Given the description of an element on the screen output the (x, y) to click on. 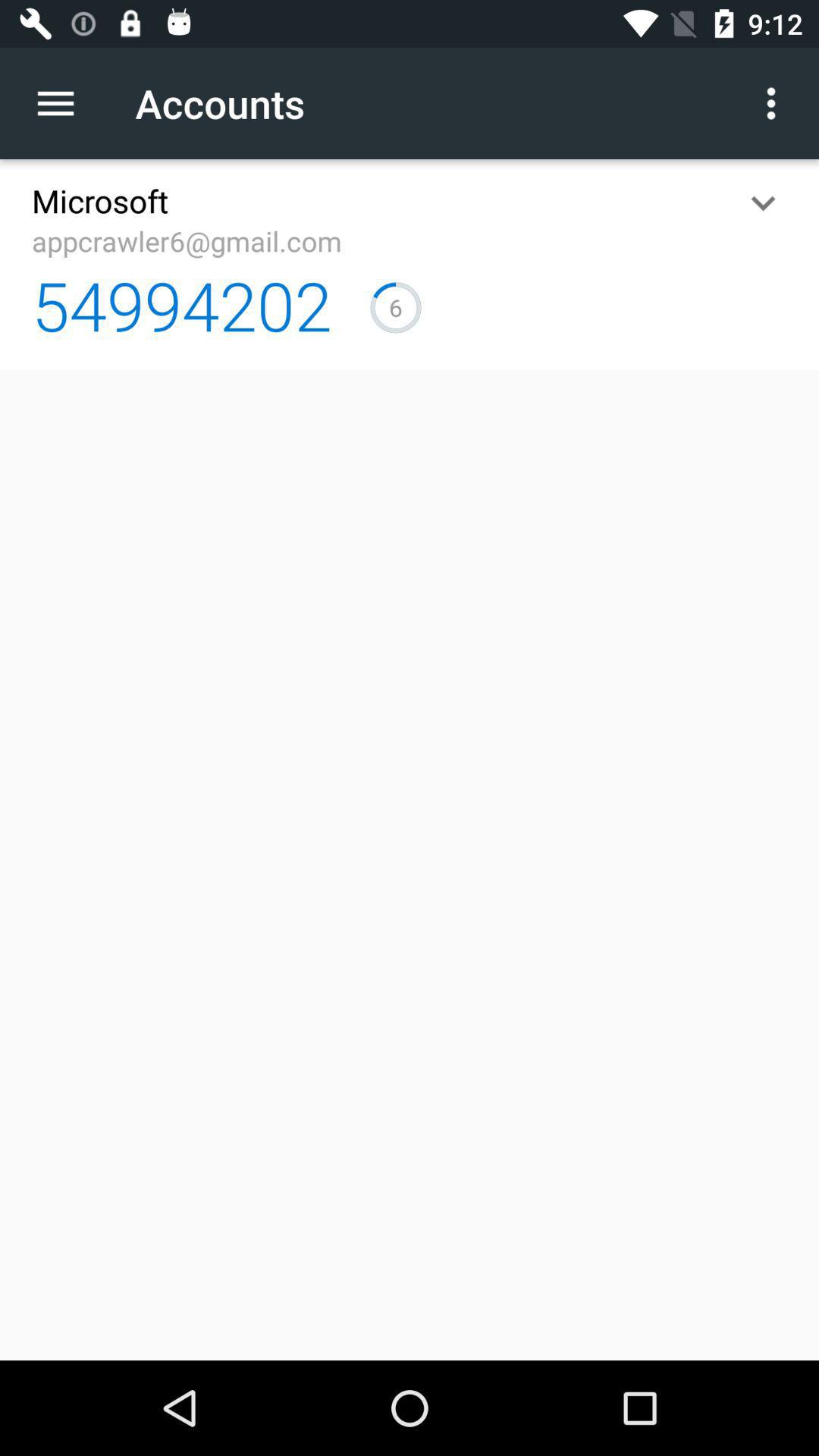
launch icon to the right of the 54994202 item (395, 307)
